Given the description of an element on the screen output the (x, y) to click on. 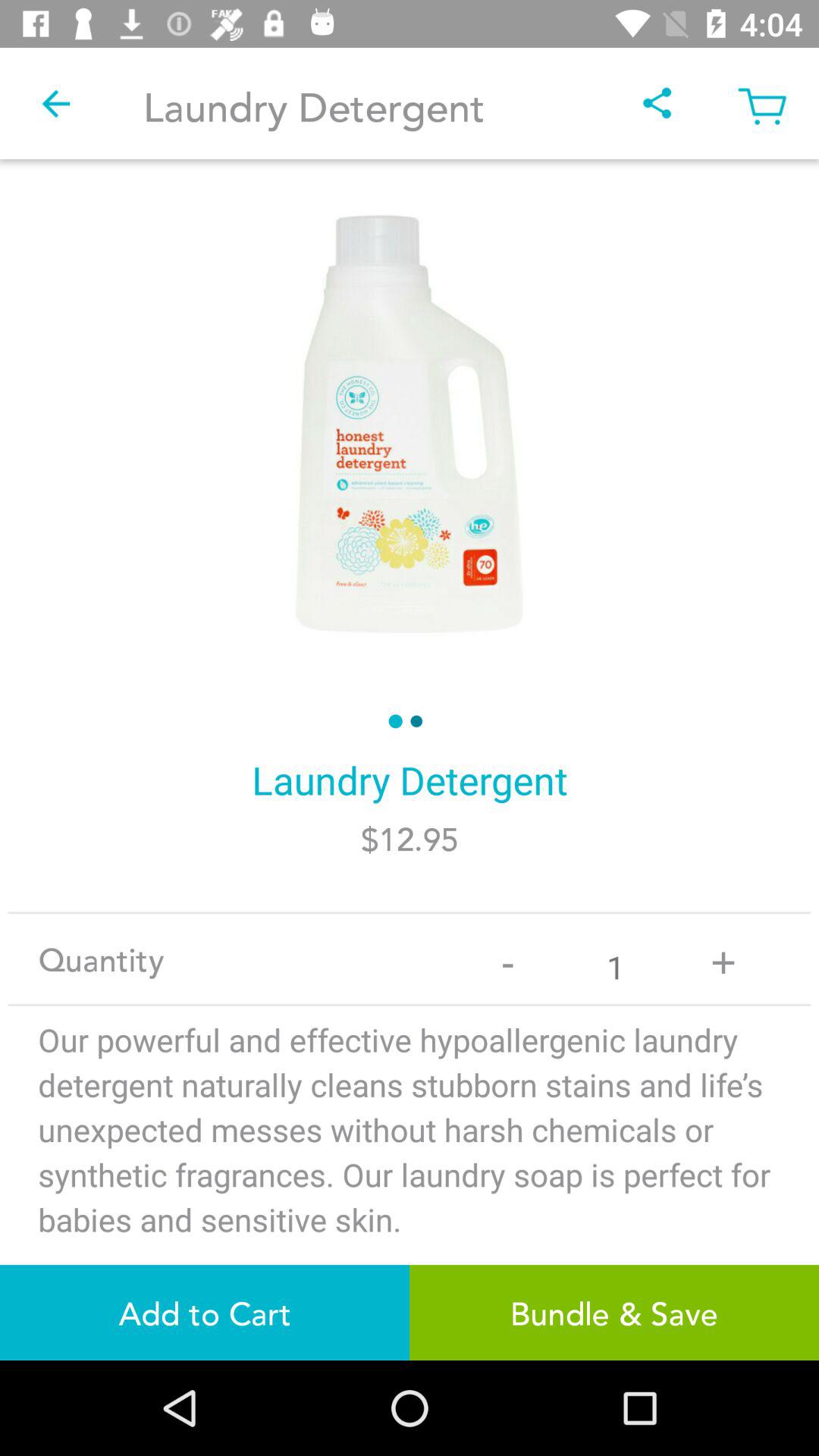
select item next to laundry detergent item (657, 103)
